Given the description of an element on the screen output the (x, y) to click on. 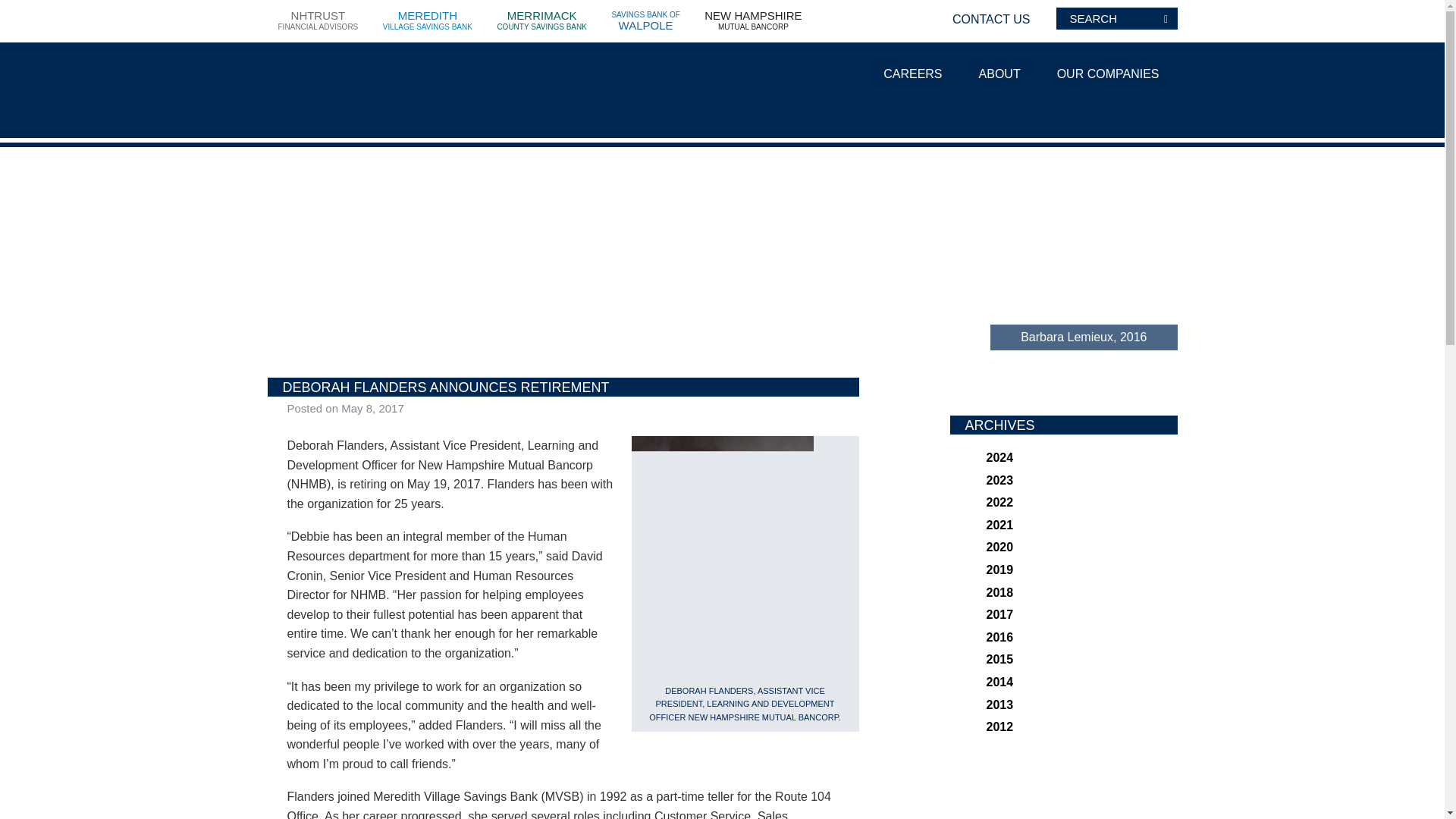
2019 (999, 569)
2024 (999, 457)
2018 (999, 592)
CAREERS (911, 77)
SEARCH (1165, 18)
New Hampshire Mutual Bancorp (368, 94)
2016 (999, 636)
2017 (999, 614)
2021 (645, 22)
